Given the description of an element on the screen output the (x, y) to click on. 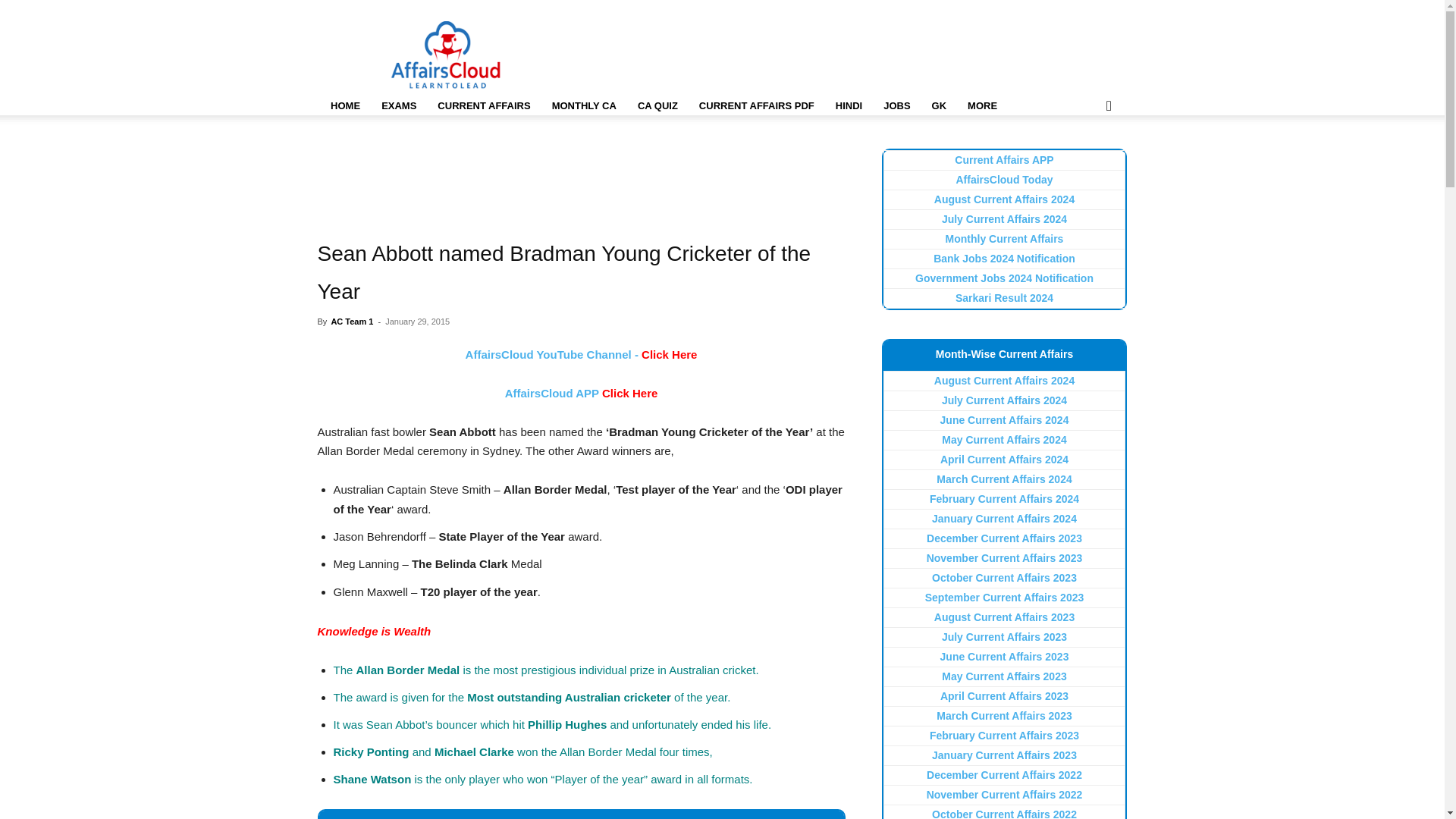
AffairsCloud (446, 55)
Current Affairs Quiz (657, 105)
Home (344, 105)
Current Affairs (483, 105)
Current Affairs PDF (756, 105)
Current Affairs Hindi (848, 105)
